Given the description of an element on the screen output the (x, y) to click on. 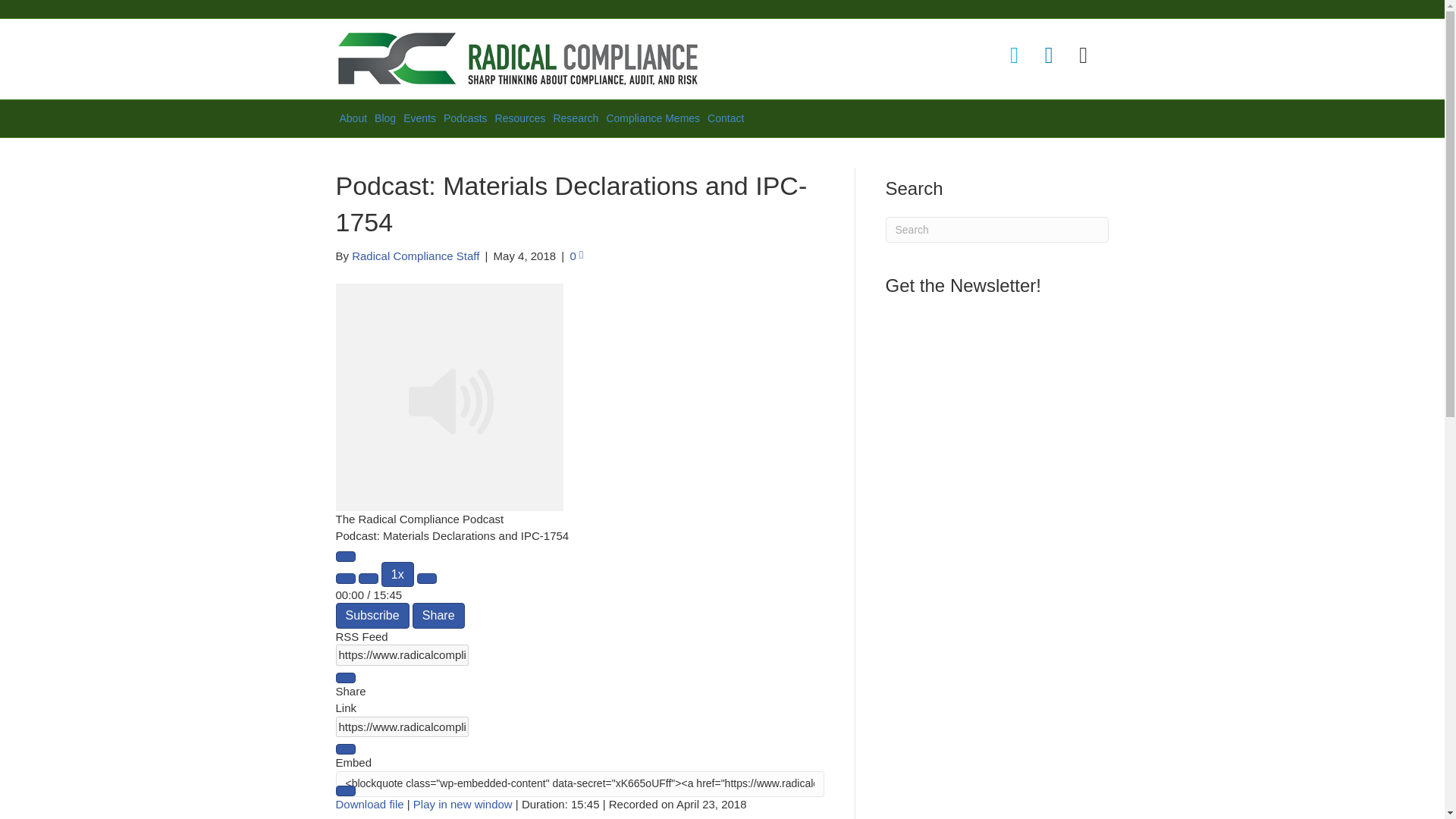
Linkedin (1047, 55)
Playback Speed (397, 574)
Subscribe (371, 615)
Research (575, 118)
Email (1082, 55)
Rewind 10 seconds (368, 578)
Twitter (1014, 55)
Compliance Memes (652, 118)
Share (438, 615)
0 (576, 255)
